Given the description of an element on the screen output the (x, y) to click on. 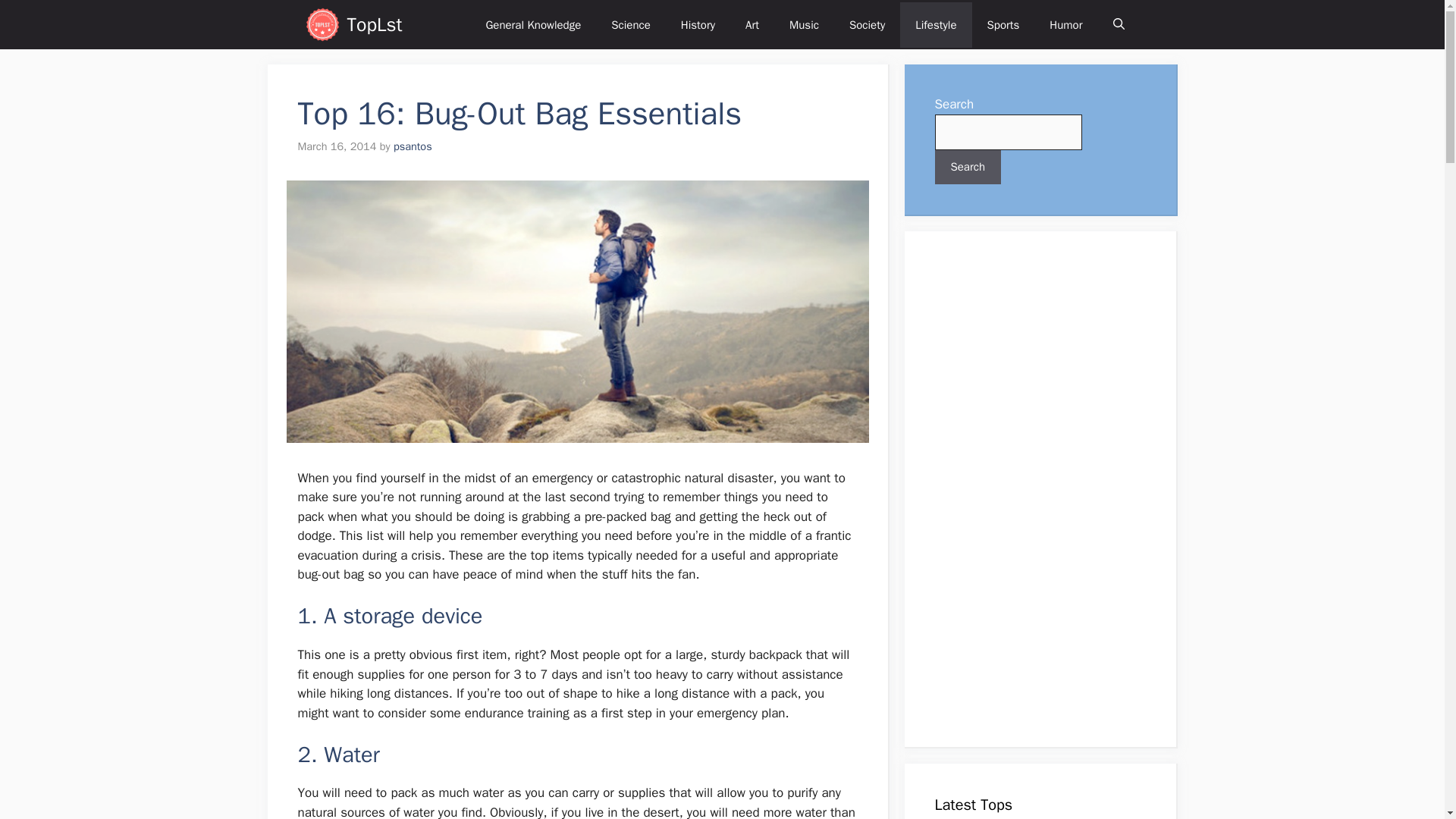
General Knowledge (532, 23)
TopLst (375, 24)
Science (630, 23)
Lifestyle (935, 23)
Art (752, 23)
History (697, 23)
Music (804, 23)
Society (866, 23)
Humor (1065, 23)
Search (967, 166)
psantos (412, 146)
Sports (1003, 23)
View all posts by psantos (412, 146)
